Given the description of an element on the screen output the (x, y) to click on. 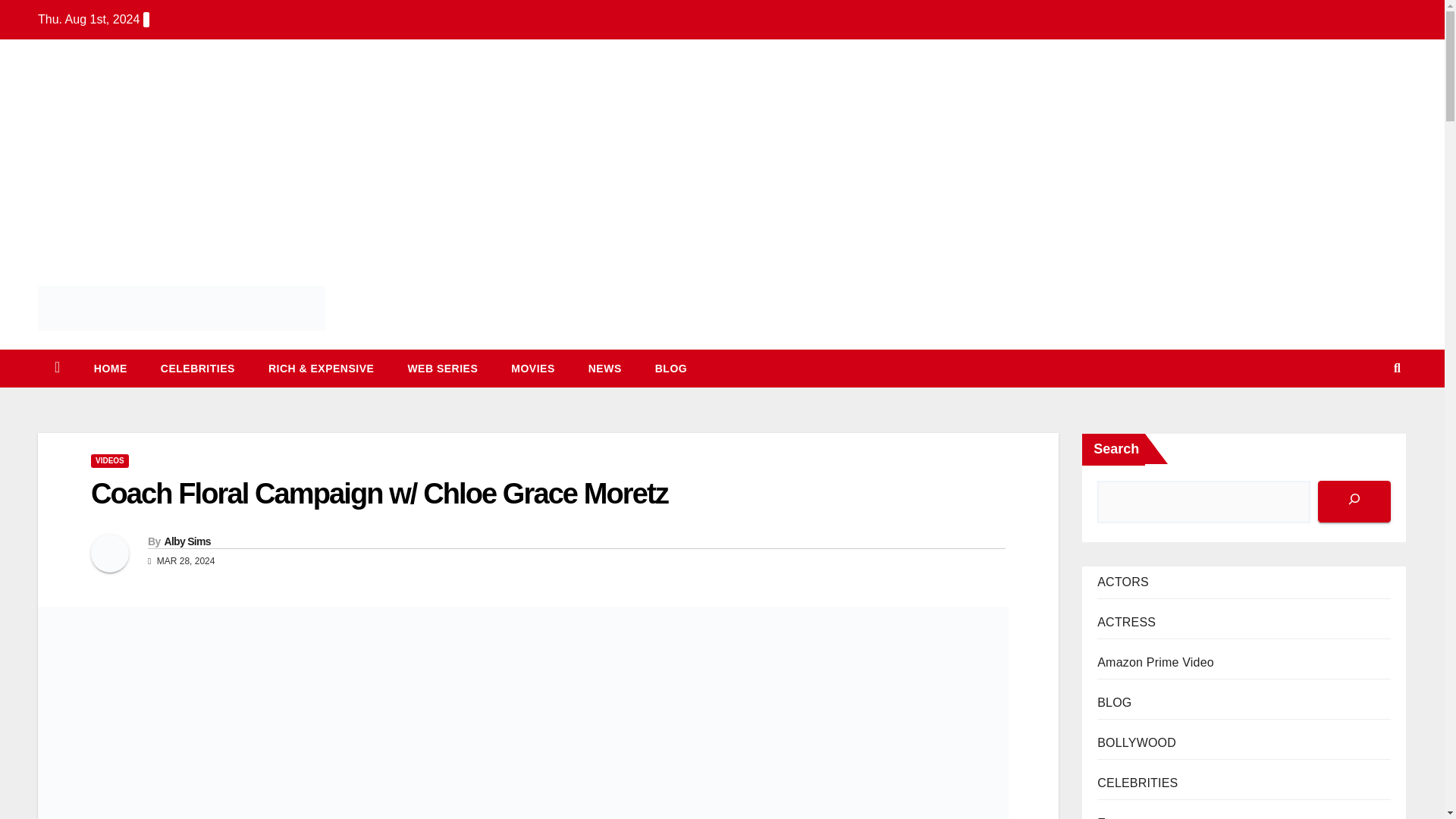
HOME (110, 368)
WEB SERIES (442, 368)
WEB SERIES (442, 368)
CELEBRITIES (197, 368)
MOVIES (532, 368)
Alby Sims (186, 541)
CELEBRITIES (197, 368)
HOME (110, 368)
NEWS (605, 368)
